Given the description of an element on the screen output the (x, y) to click on. 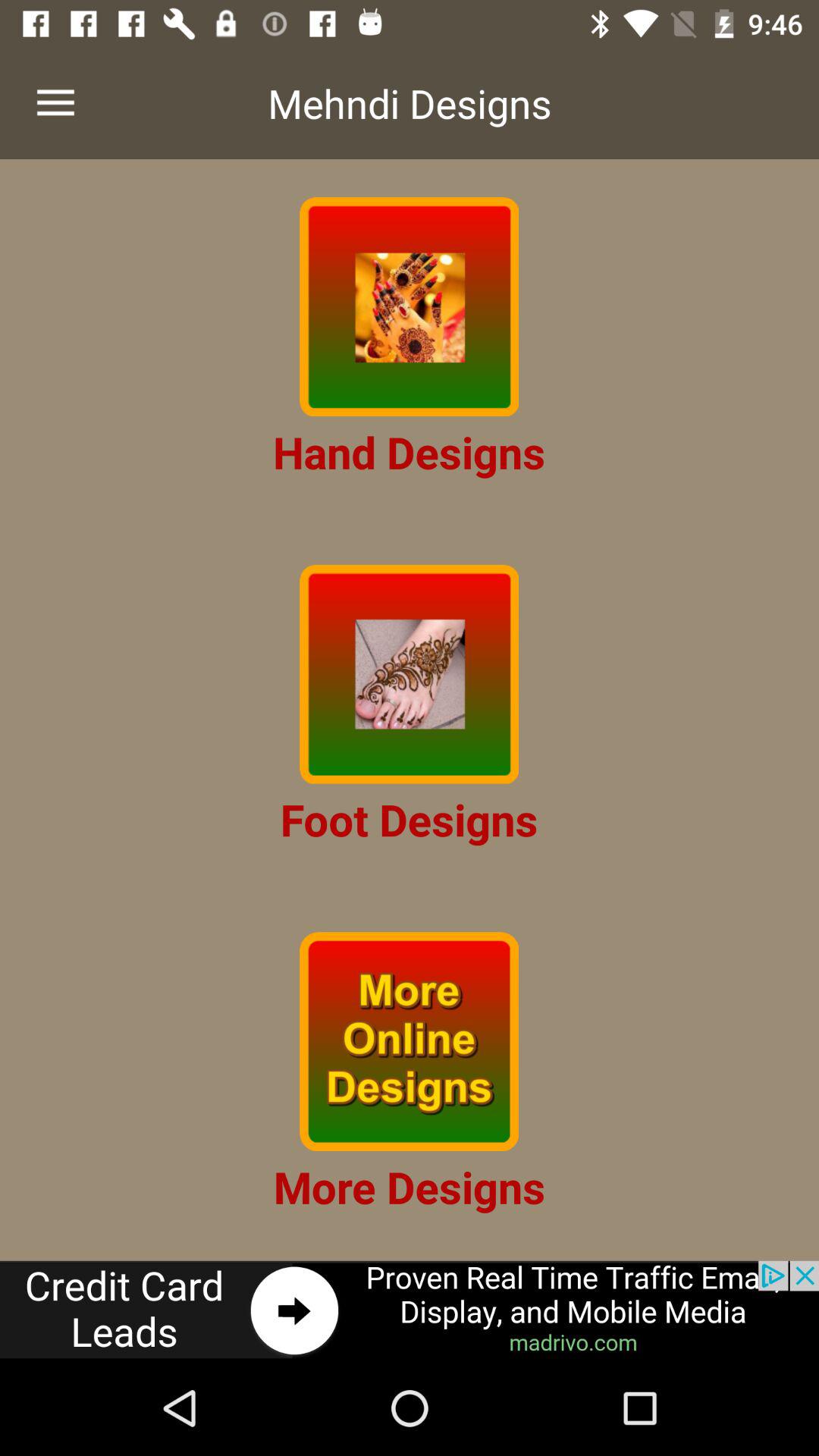
select the widget (408, 306)
